Given the description of an element on the screen output the (x, y) to click on. 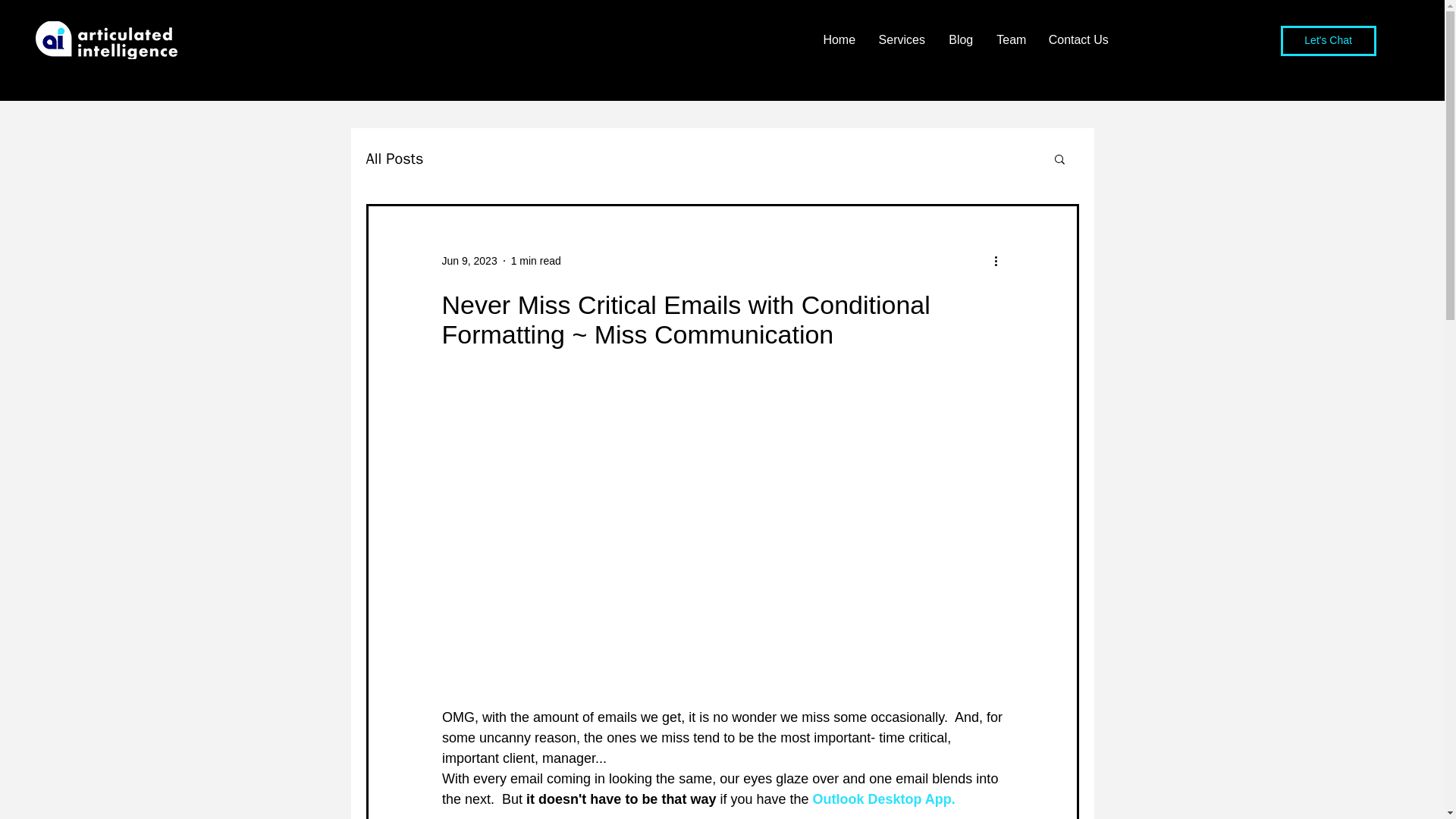
1 min read (535, 260)
Let's Chat (1328, 40)
Services (901, 39)
ricos-video (722, 427)
Jun 9, 2023 (468, 260)
Contact Us (1077, 39)
ai-full-logo-light-long-RGB.png (105, 39)
Blog (960, 39)
Team (1010, 39)
All Posts (394, 158)
Home (838, 39)
